Given the description of an element on the screen output the (x, y) to click on. 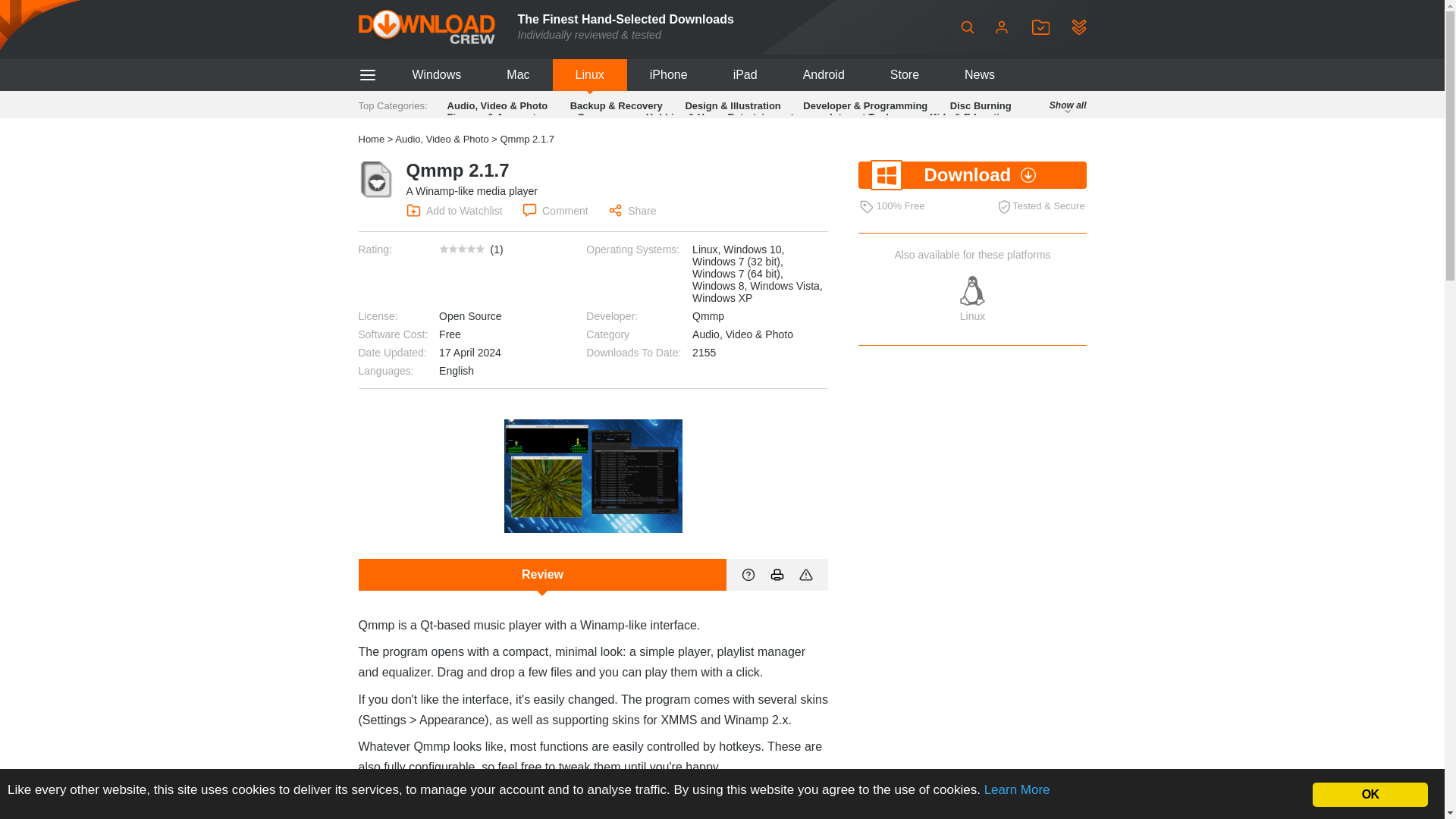
Mac (517, 74)
Android (823, 74)
Downloadcrew - Home (426, 26)
Internet Tools (861, 116)
Windows (435, 74)
iPad (745, 74)
Games (593, 116)
Linux (590, 74)
Disc Burning (980, 105)
iPhone (668, 74)
